Given the description of an element on the screen output the (x, y) to click on. 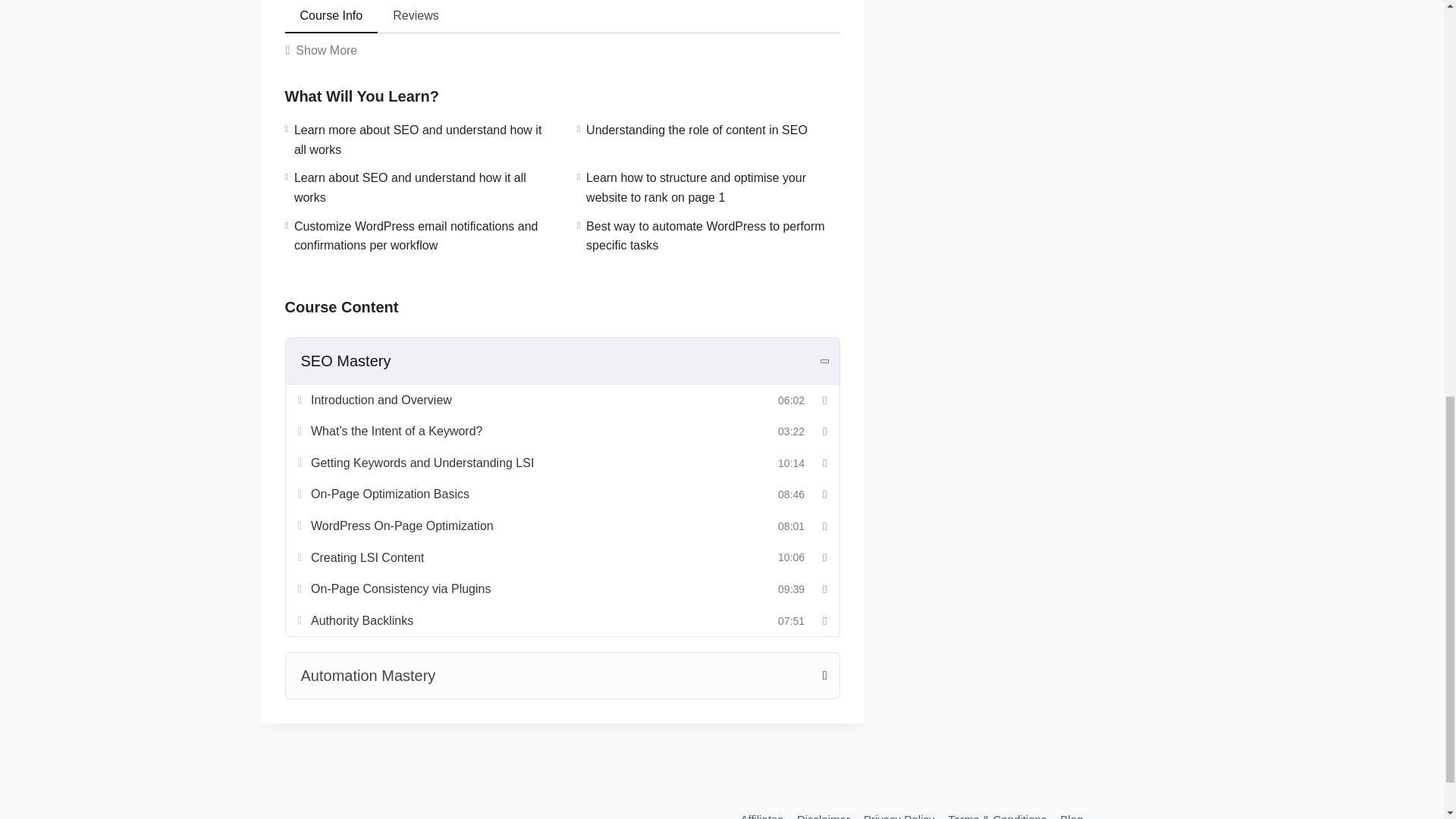
Show More (321, 50)
Affiliates (761, 812)
Disclaimer (823, 812)
Privacy Policy (898, 812)
Blog (1070, 812)
